Given the description of an element on the screen output the (x, y) to click on. 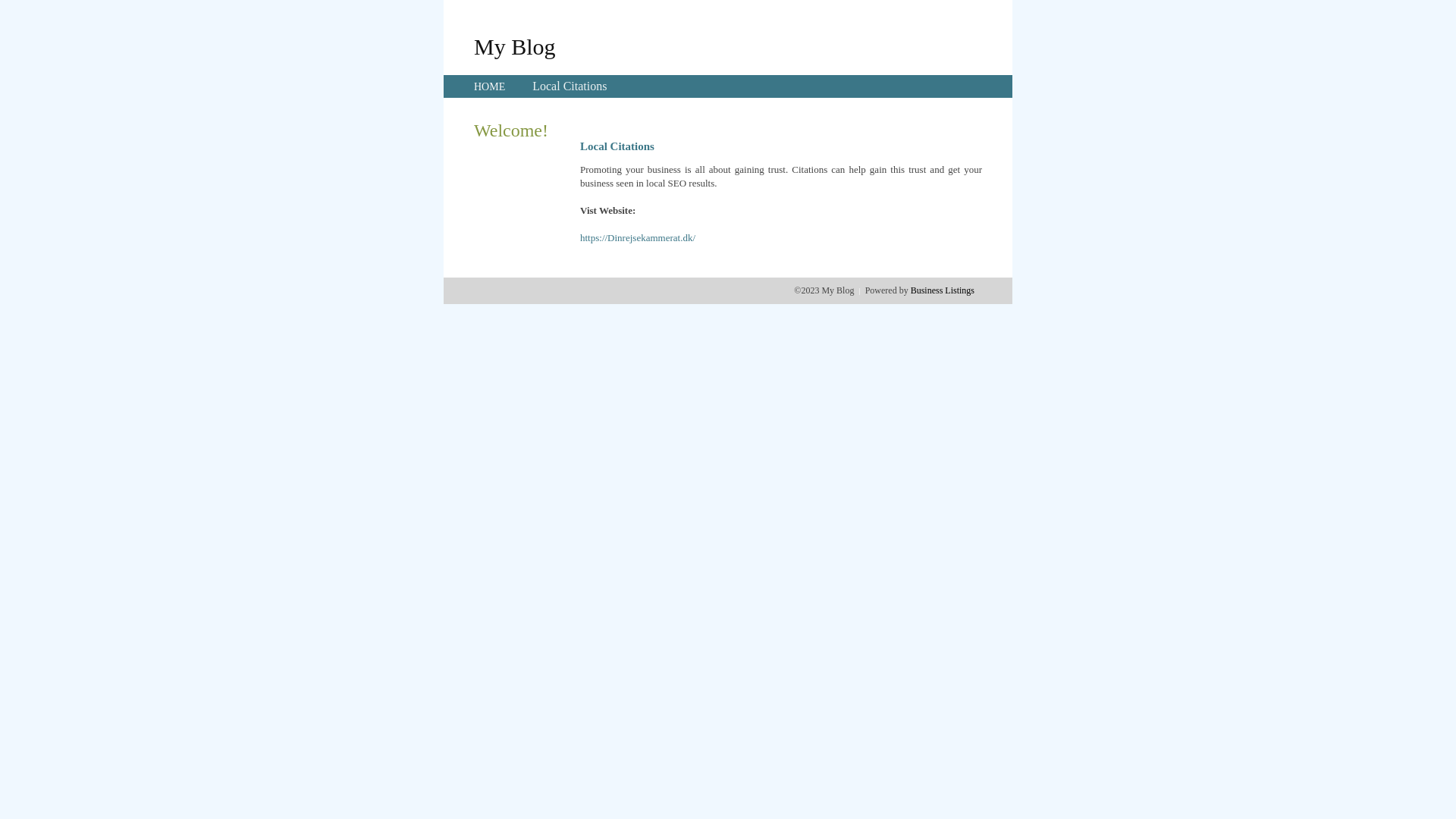
Local Citations Element type: text (569, 85)
https://Dinrejsekammerat.dk/ Element type: text (637, 237)
HOME Element type: text (489, 86)
Business Listings Element type: text (942, 290)
My Blog Element type: text (514, 46)
